Given the description of an element on the screen output the (x, y) to click on. 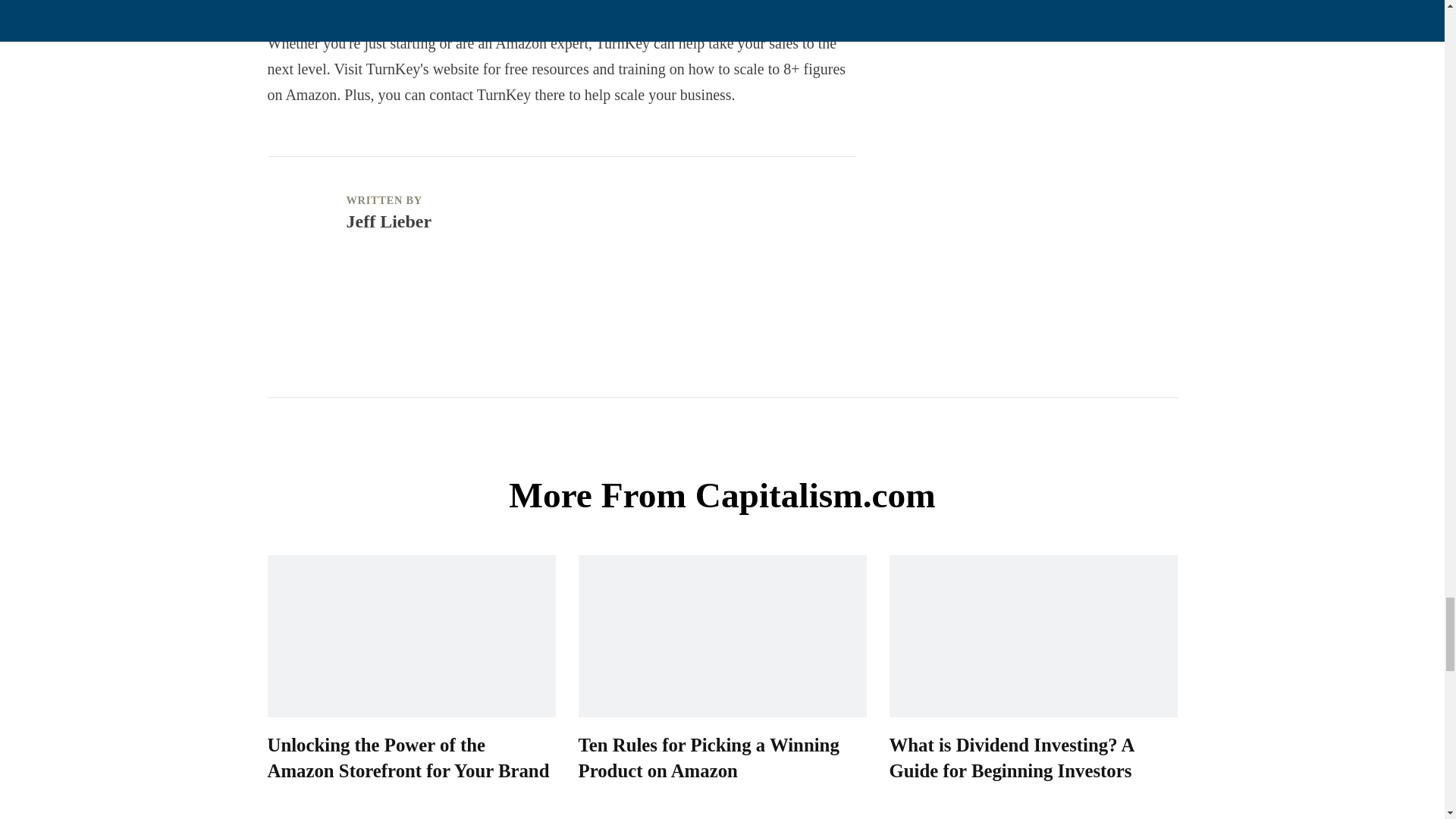
Unlocking the Power of the Amazon Storefront for Your Brand (407, 757)
